Given the description of an element on the screen output the (x, y) to click on. 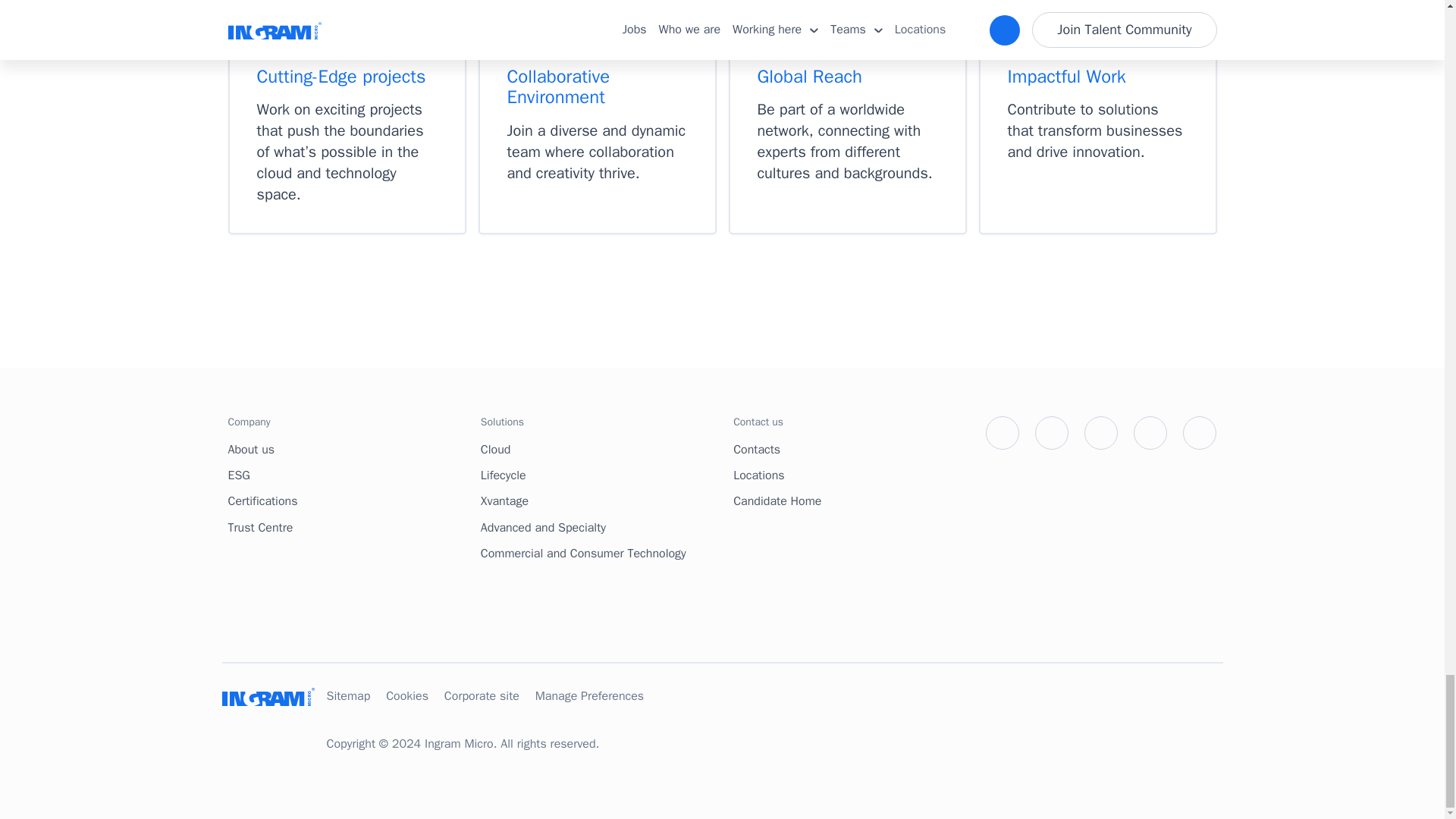
ESG (347, 475)
Cloud (600, 449)
LinkedIn (1101, 432)
Certifications (347, 501)
Trust Centre (347, 527)
About us (347, 449)
Facebook (1051, 432)
Lifecycle (600, 475)
Twitter X (1002, 432)
